Given the description of an element on the screen output the (x, y) to click on. 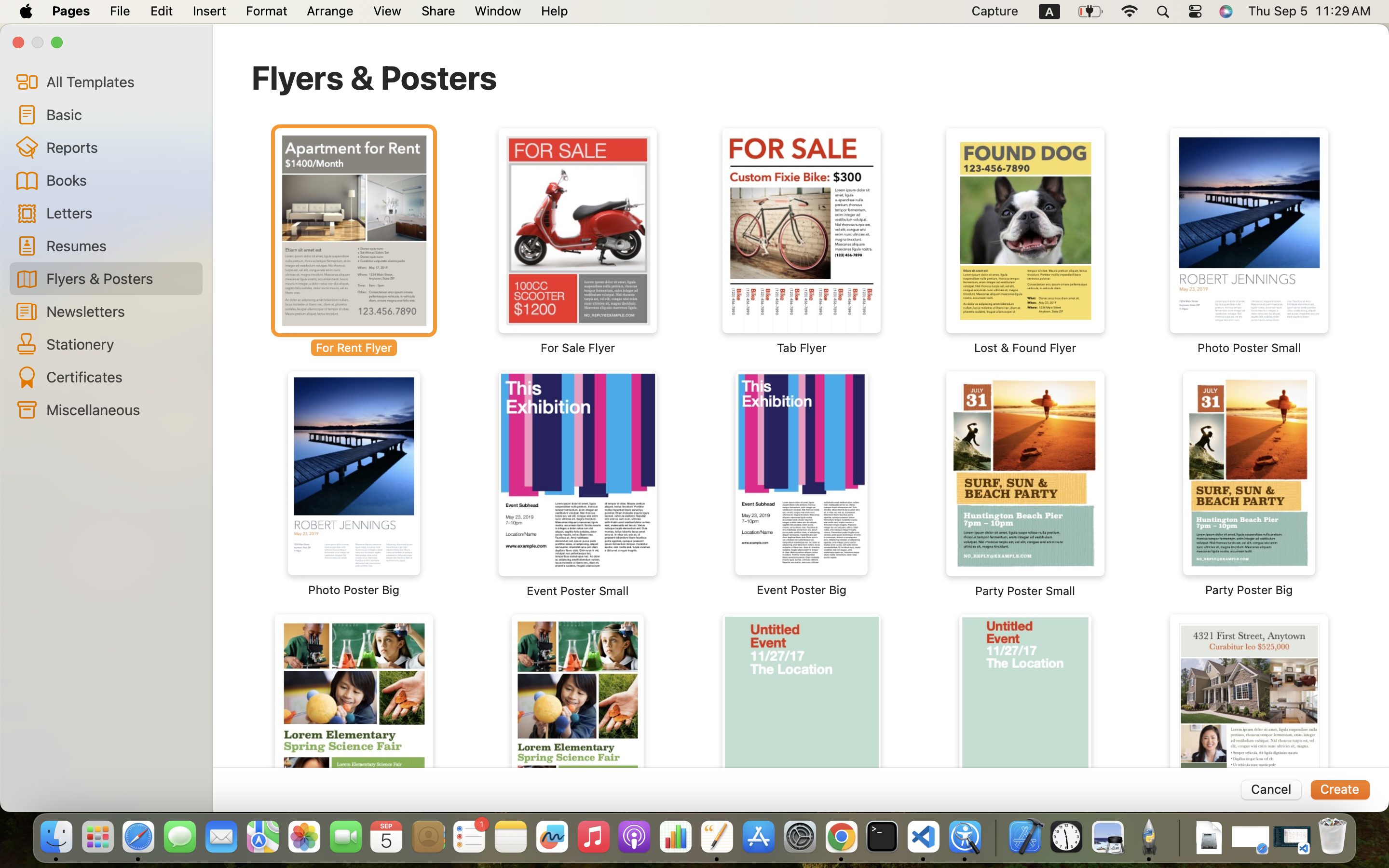
Certificates Element type: AXStaticText (120, 376)
‎⁨For Sale Flyer⁩ Element type: AXButton (577, 241)
‎⁨Event Poster Big⁩ Element type: AXButton (801, 483)
‎⁨Lost & Found Flyer⁩ Element type: AXButton (1025, 241)
